Given the description of an element on the screen output the (x, y) to click on. 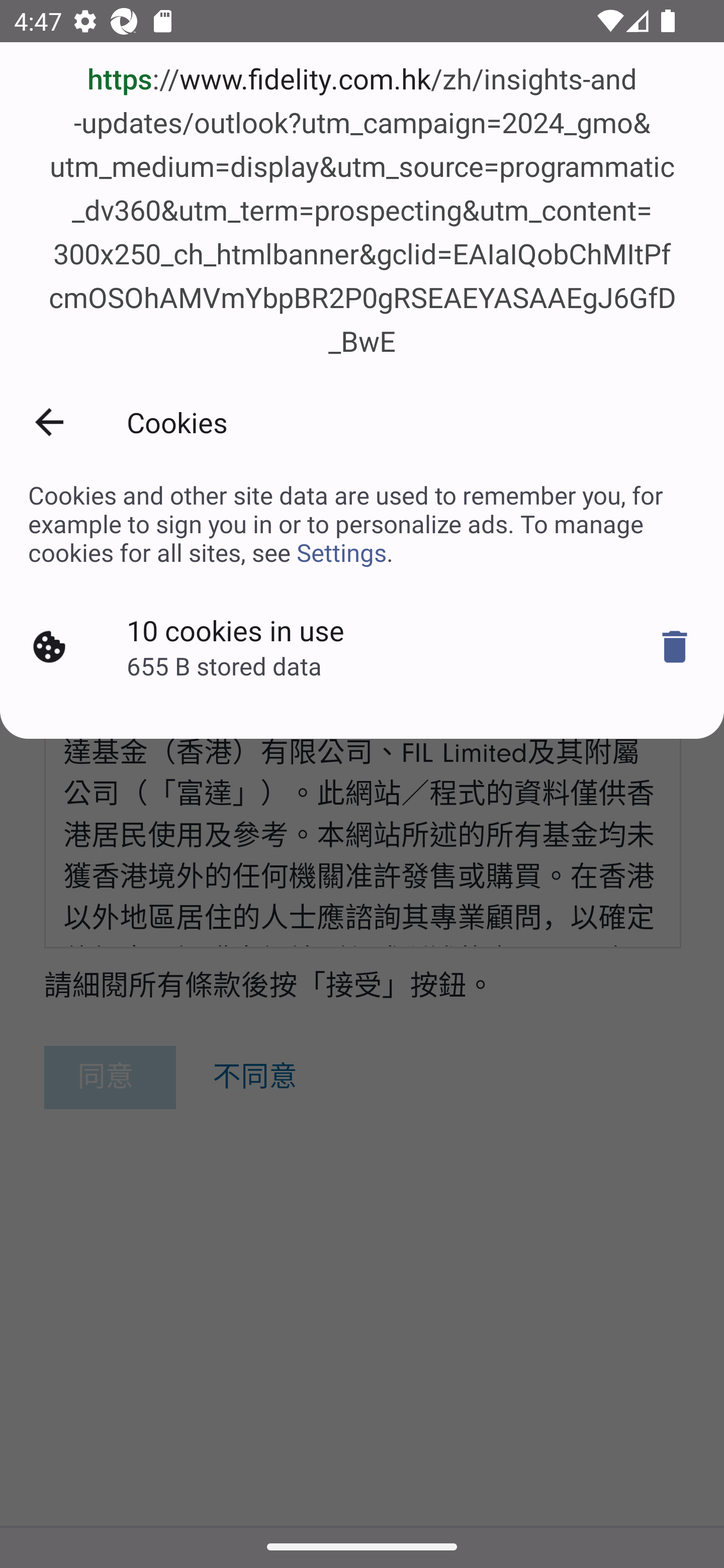
Back (49, 421)
10 cookies in use 655 B stored data Clear cookies? (362, 646)
